Given the description of an element on the screen output the (x, y) to click on. 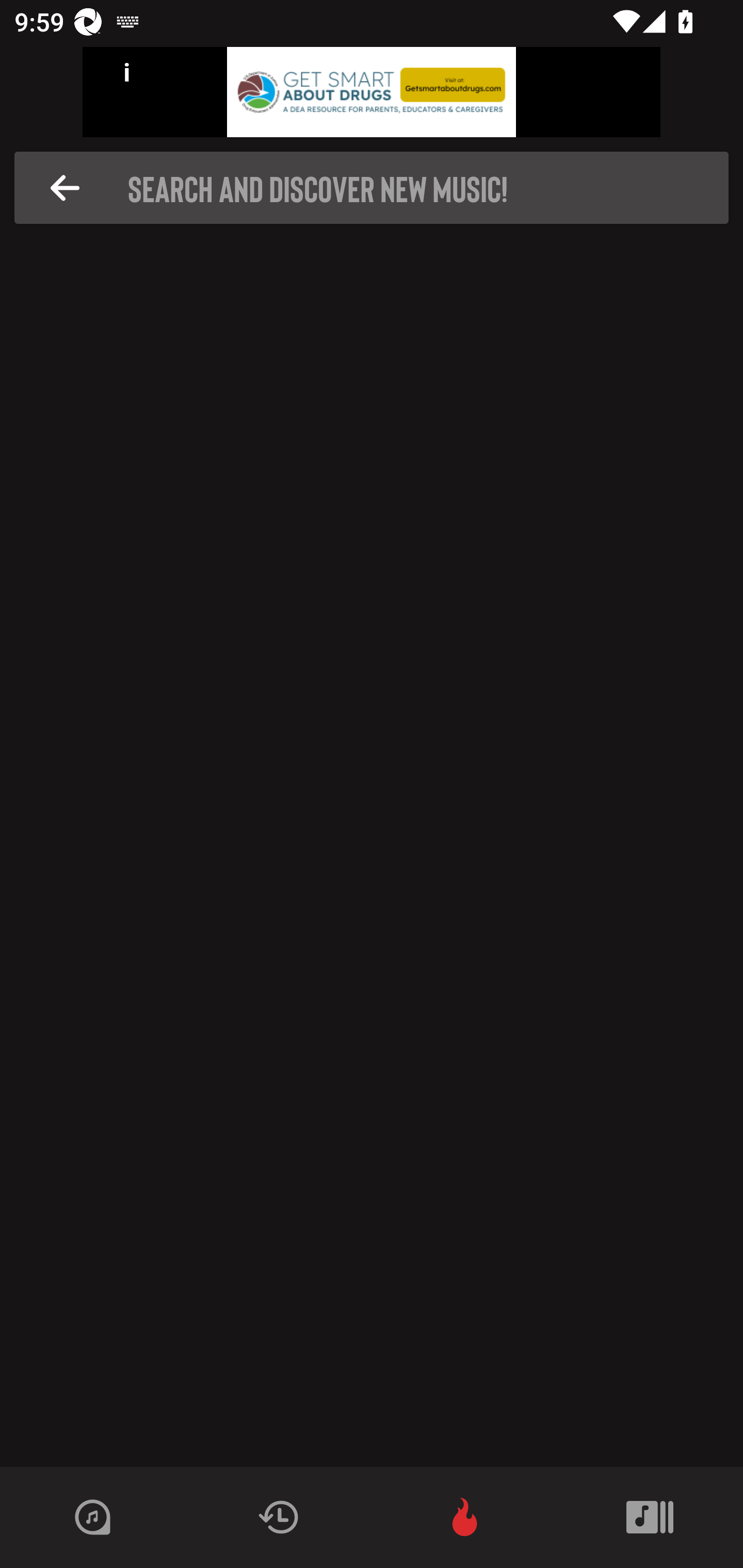
SEARCH AND DISCOVER NEW MUSIC! (377, 188)
Description (64, 188)
